Given the description of an element on the screen output the (x, y) to click on. 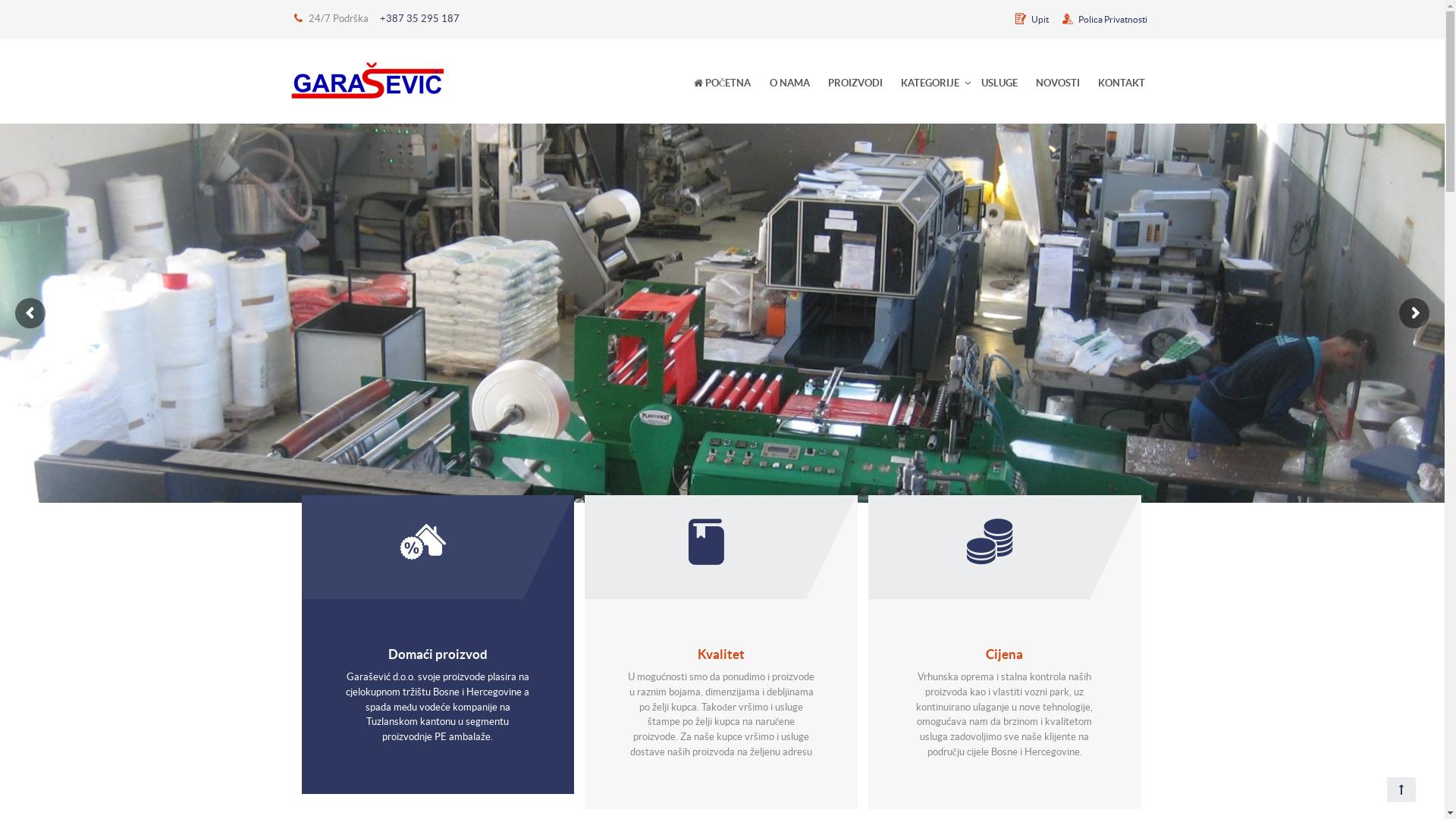
Upit Element type: text (1029, 19)
KONTAKT Element type: text (1121, 82)
O NAMA Element type: text (788, 82)
Polica Privatnosti Element type: text (1102, 19)
USLUGE Element type: text (999, 82)
NOVOSTI Element type: text (1057, 82)
PROIZVODI Element type: text (855, 82)
+387 35 295 187 Element type: text (418, 18)
KATEGORIJE Element type: text (929, 82)
